Given the description of an element on the screen output the (x, y) to click on. 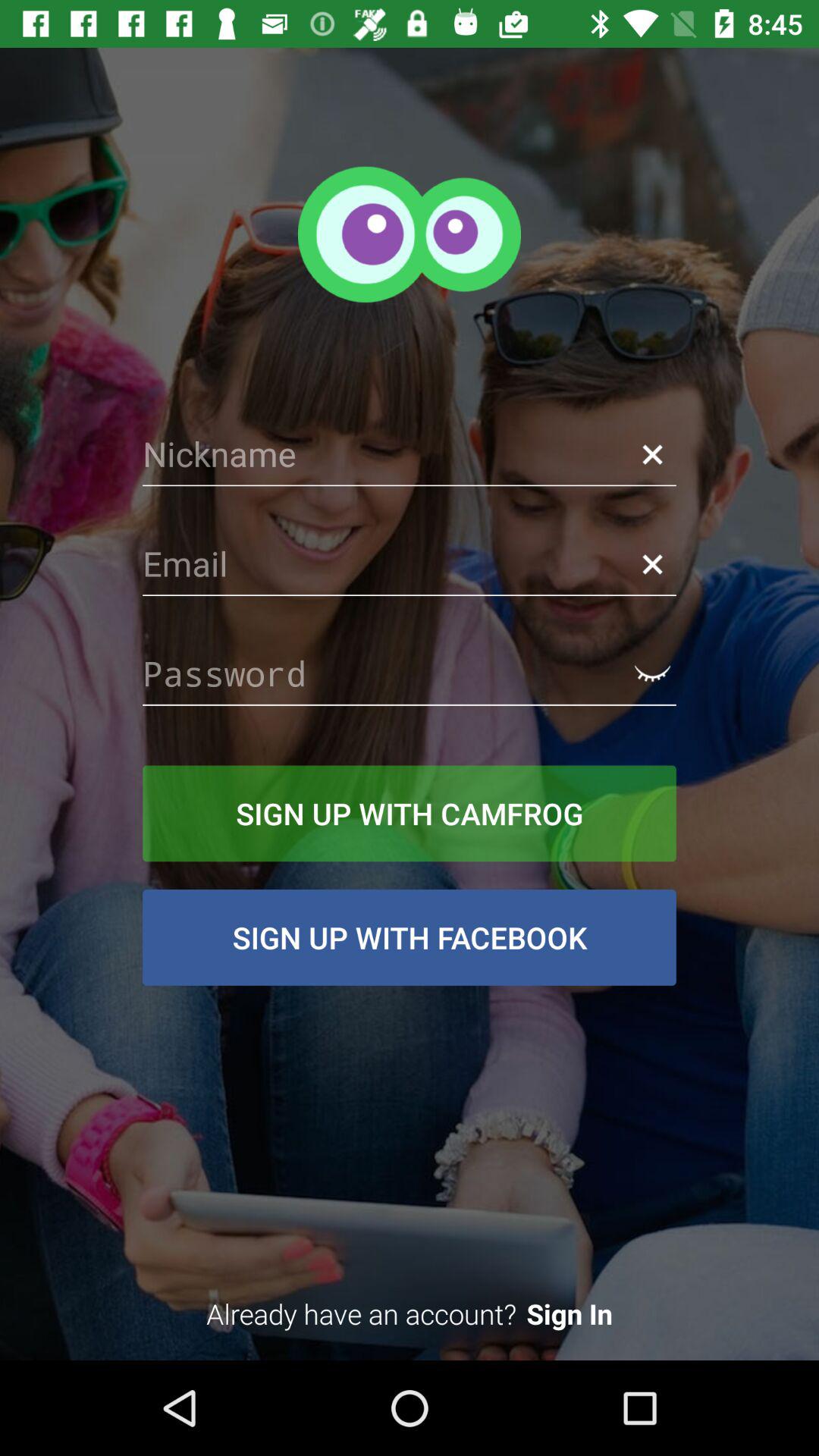
clear text (652, 454)
